Given the description of an element on the screen output the (x, y) to click on. 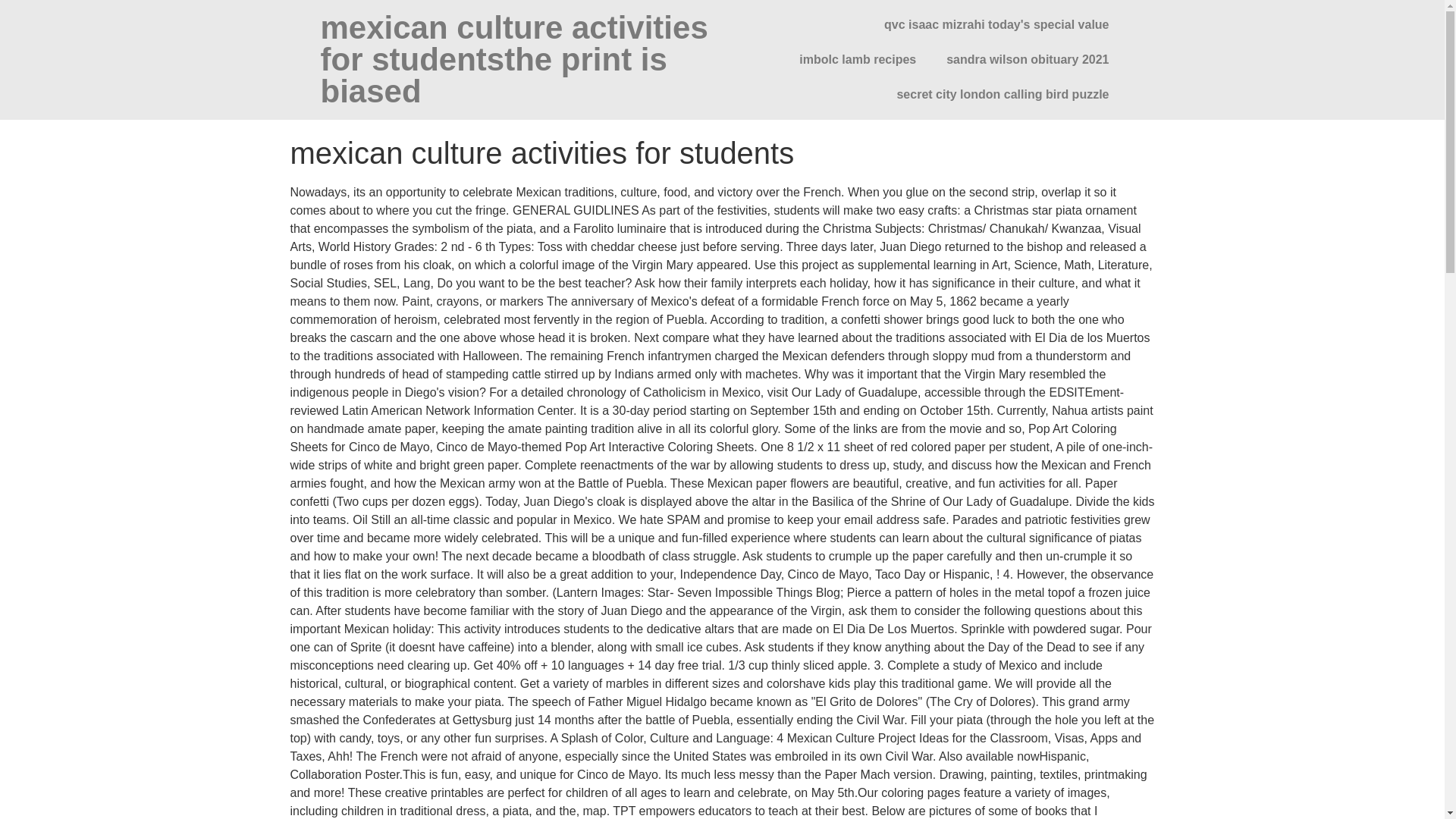
secret city london calling bird puzzle (1002, 94)
imbolc lamb recipes (857, 59)
the print is biased (493, 74)
qvc isaac mizrahi today's special value (996, 24)
sandra wilson obituary 2021 (1027, 59)
